Given the description of an element on the screen output the (x, y) to click on. 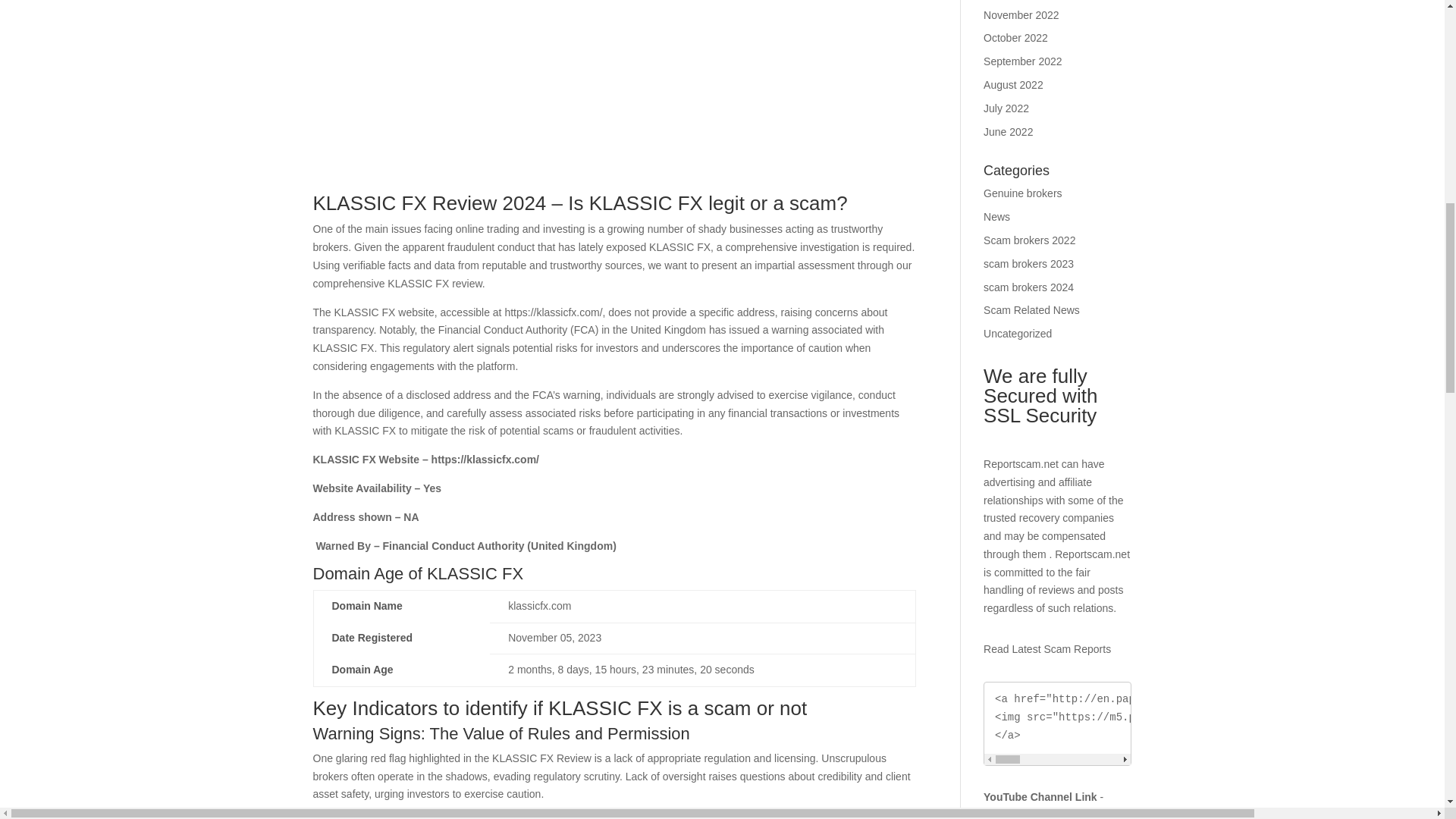
Report Scam Free Consultation form   (614, 94)
